Given the description of an element on the screen output the (x, y) to click on. 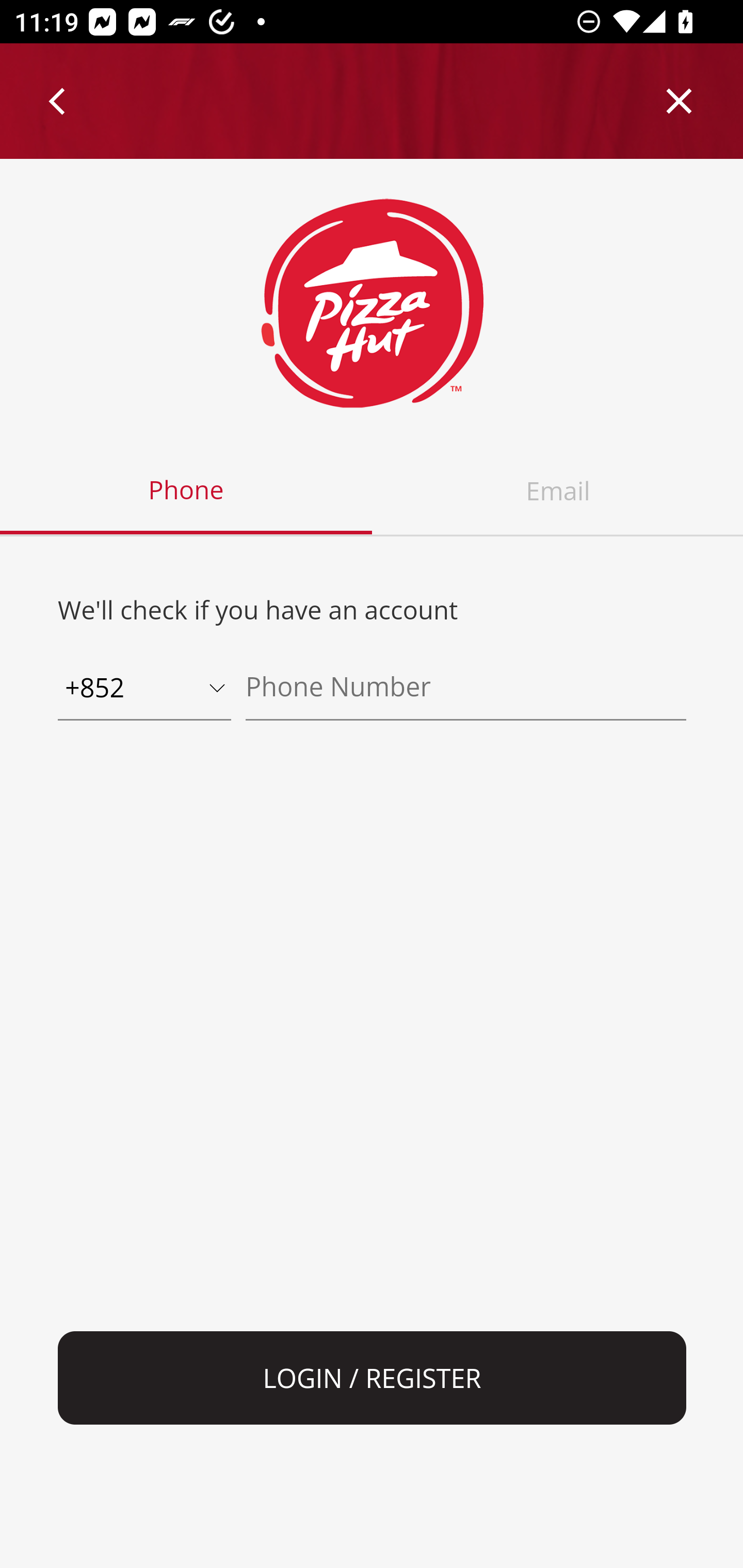
menu (58, 100)
close (679, 100)
Phone (186, 491)
Email (557, 491)
+852 (144, 688)
LOGIN / REGISTER (372, 1377)
